Given the description of an element on the screen output the (x, y) to click on. 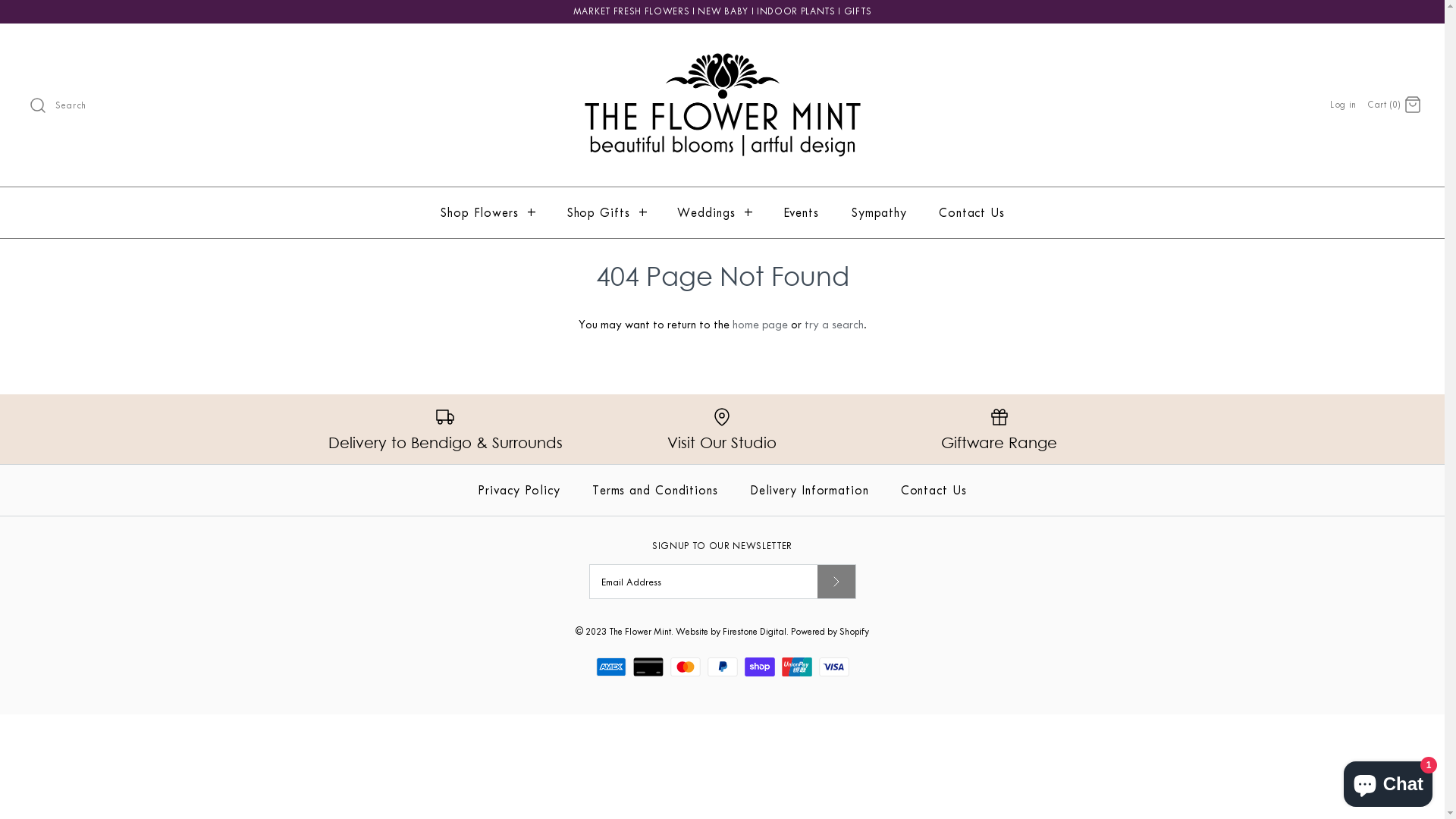
try a search Element type: text (832, 324)
Powered by Shopify Element type: text (829, 631)
Log in Element type: text (1343, 104)
Contact Us Element type: text (933, 489)
Delivery Information Element type: text (809, 489)
Shop Flowers + Element type: text (487, 212)
Terms and Conditions Element type: text (654, 489)
The Flower Mint Element type: text (639, 631)
home page Element type: text (759, 324)
Shop Gifts + Element type: text (605, 212)
Privacy Policy Element type: text (519, 489)
Contact Us Element type: text (971, 212)
Delivery to Bendigo & Surrounds Element type: text (444, 429)
Firestone Digital Element type: text (754, 631)
Giftware Range Element type: text (998, 429)
Sympathy Element type: text (878, 212)
Shopify online store chat Element type: hover (1388, 780)
Events Element type: text (799, 212)
The Flower Mint Element type: hover (721, 48)
Weddings + Element type: text (713, 212)
Visit Our Studio Element type: text (721, 429)
Cart (0) Cart Element type: text (1394, 103)
